Given the description of an element on the screen output the (x, y) to click on. 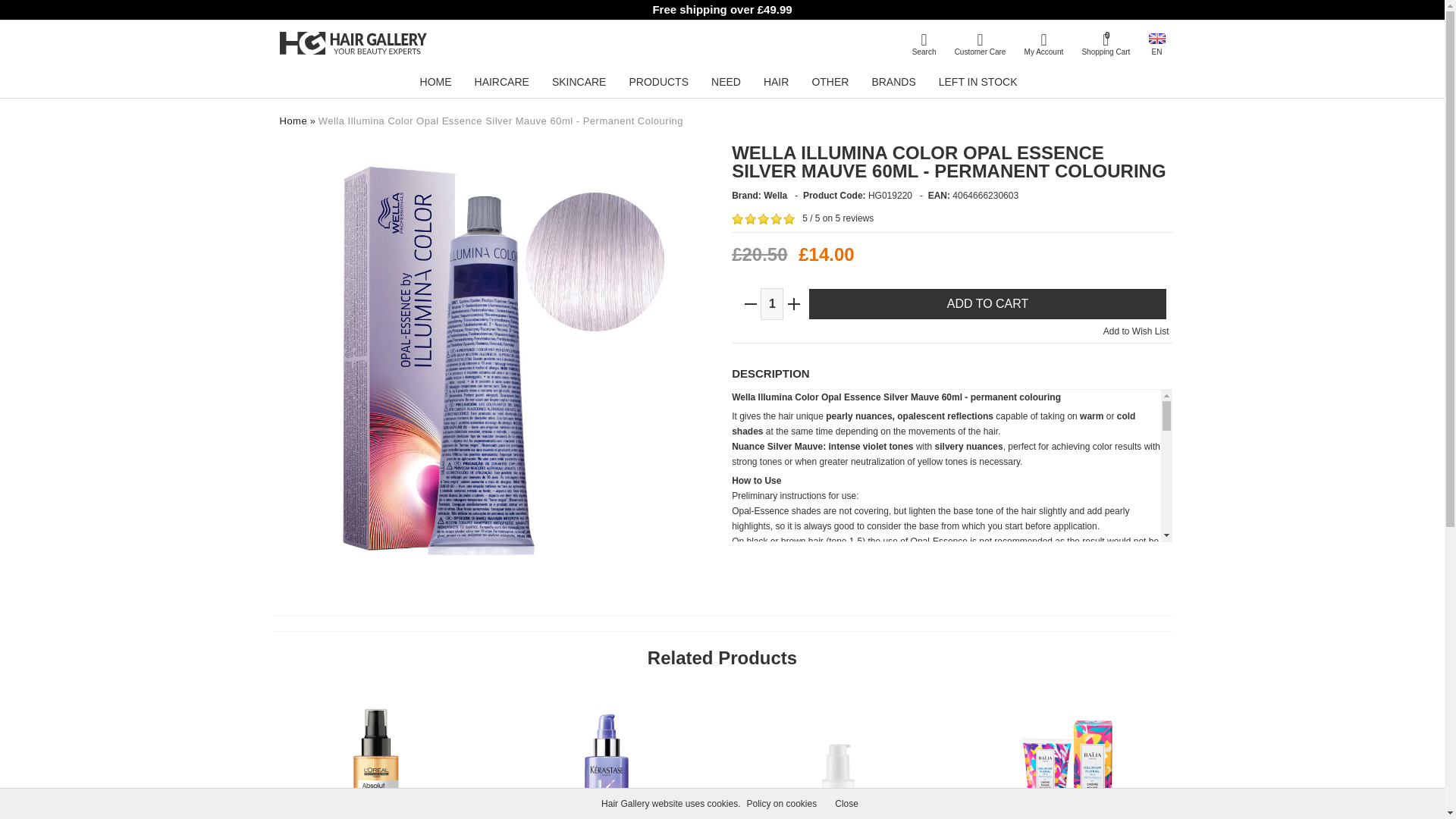
Hair Gallery Europe s.r.l. (352, 42)
Baija Paris Delirium Floral Hand Cream Iris Patchouli 30ml (1067, 751)
Home (293, 120)
en (1156, 38)
Add to Cart (987, 304)
